Given the description of an element on the screen output the (x, y) to click on. 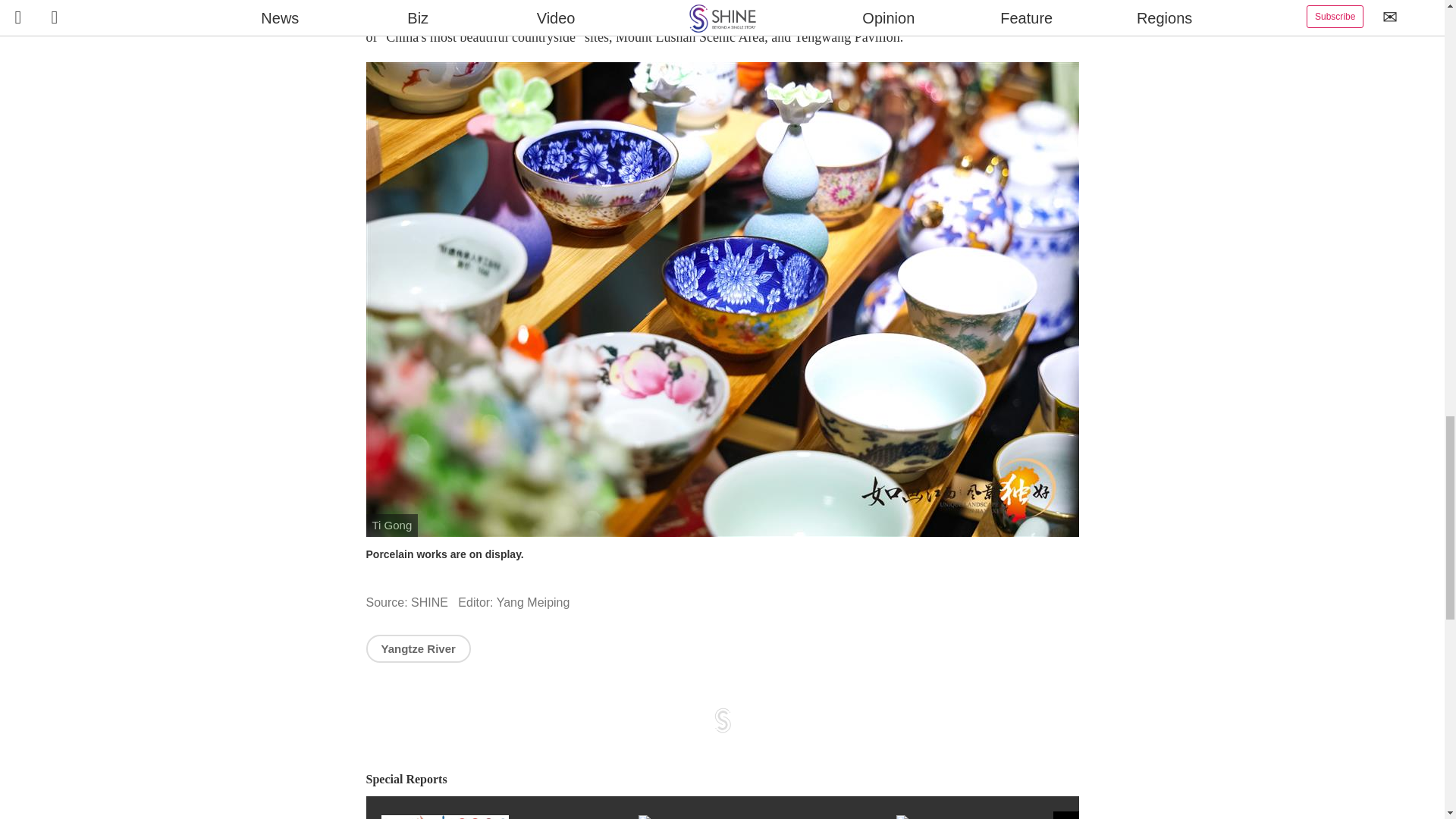
Paris 2024 Olympics (508, 816)
Yangtze River (417, 648)
Local Lingo (767, 816)
People (1024, 816)
Special Reports (721, 779)
